Given the description of an element on the screen output the (x, y) to click on. 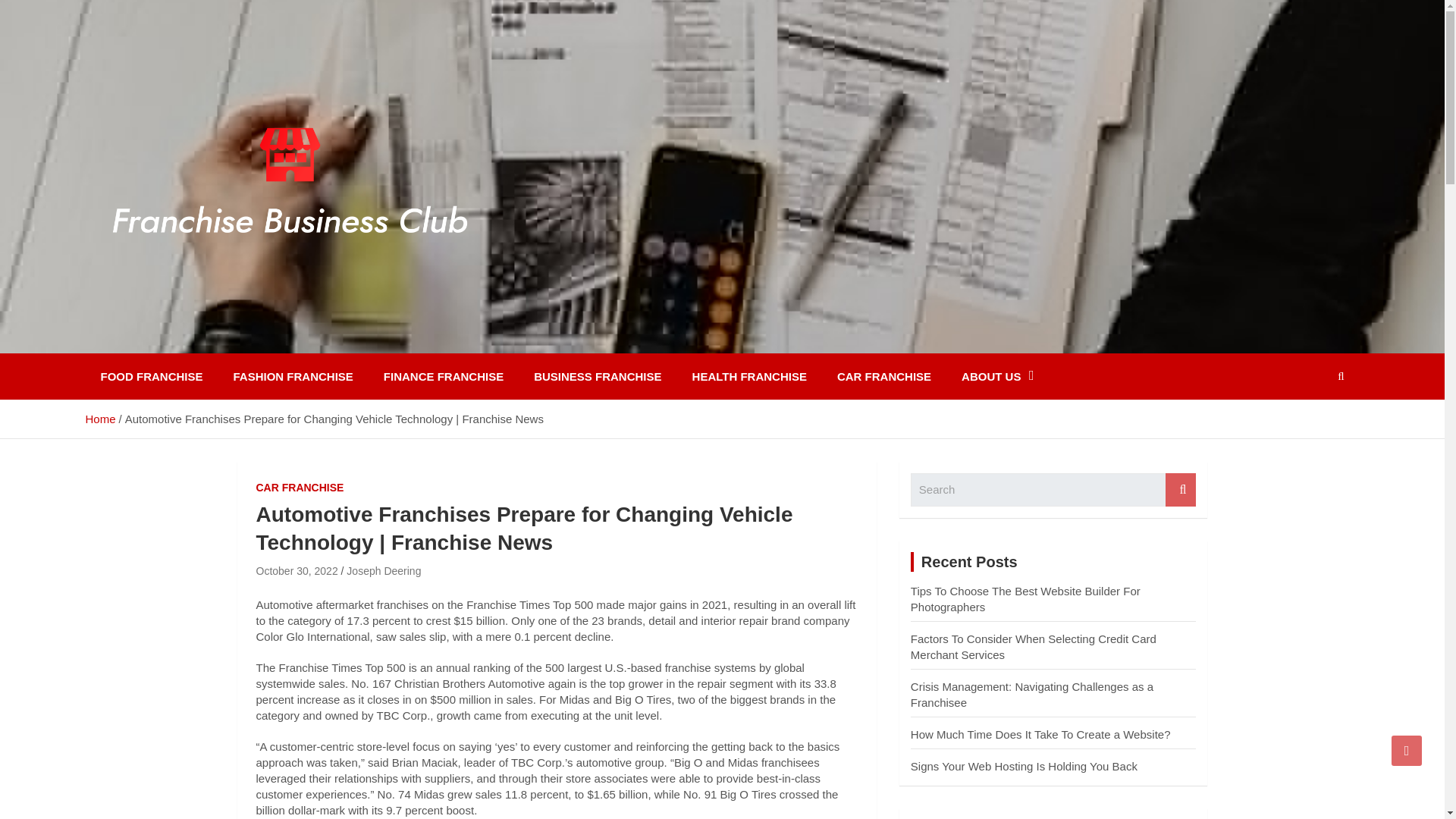
BUSINESS FRANCHISE (597, 375)
Joseph Deering (383, 571)
Tips To Choose The Best Website Builder For Photographers (1025, 598)
Go to Top (1406, 750)
FINANCE FRANCHISE (443, 375)
ABOUT US (997, 375)
Franchise Business Club (265, 342)
Home (99, 418)
Signs Your Web Hosting Is Holding You Back (1024, 766)
